Given the description of an element on the screen output the (x, y) to click on. 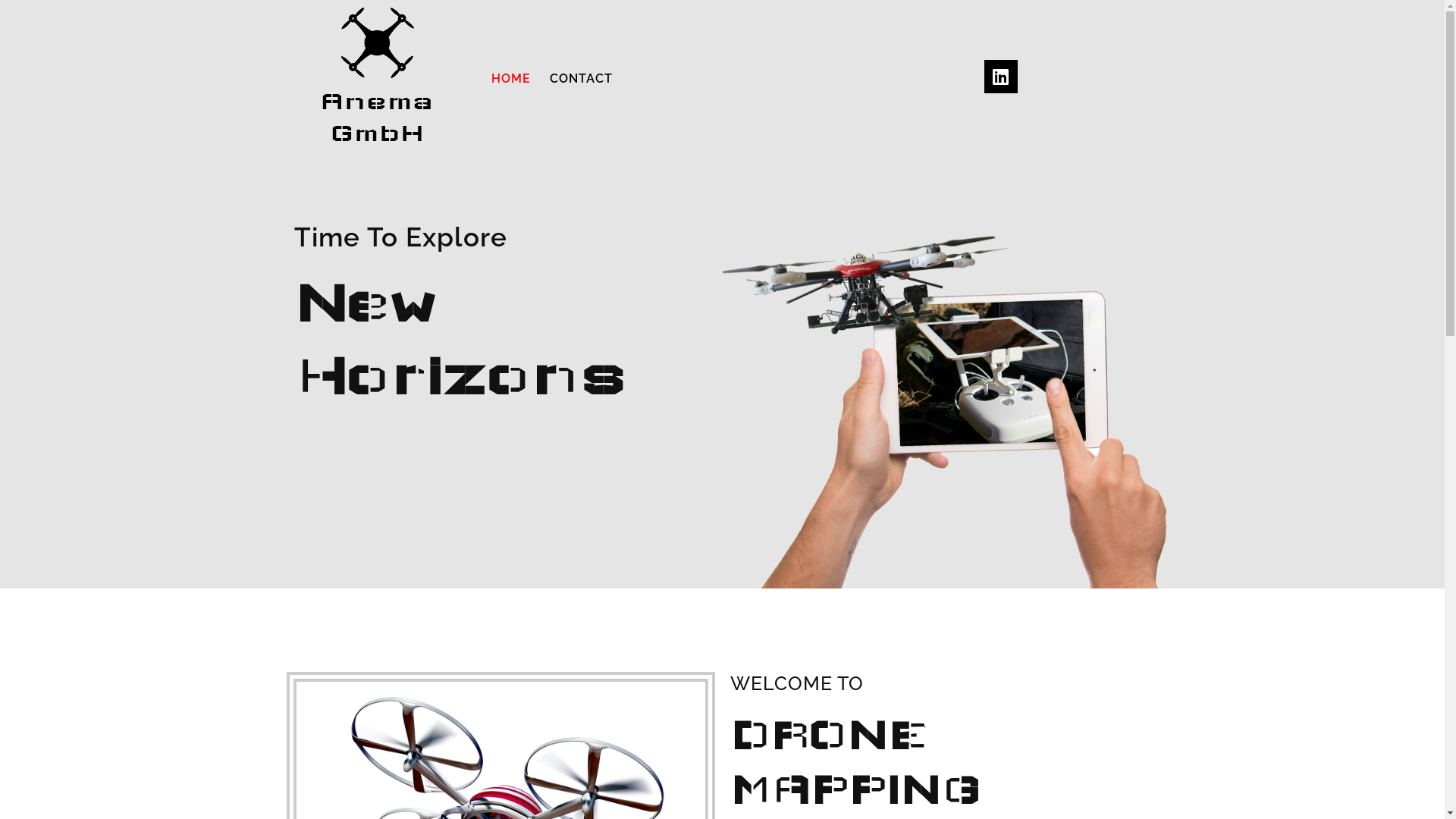
logo Element type: hover (377, 42)
CONTACT Element type: text (581, 78)
Anema GmbH Element type: text (377, 78)
HOME Element type: text (510, 78)
banner_img Element type: hover (943, 404)
